Given the description of an element on the screen output the (x, y) to click on. 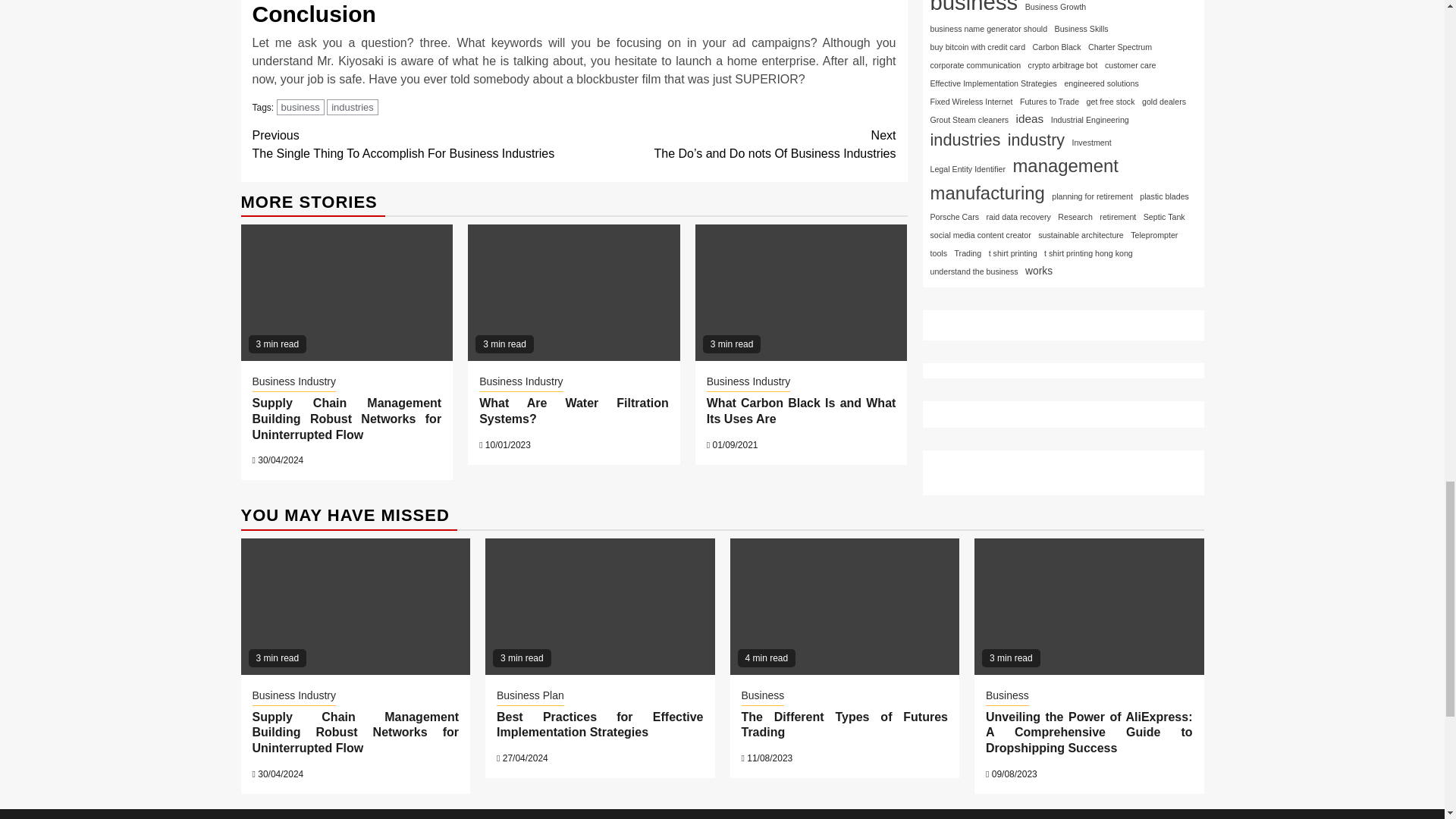
What Are Water Filtration Systems? (573, 292)
industries (352, 107)
What Are Water Filtration Systems? (573, 410)
Business Industry (521, 382)
What Carbon Black Is and What Its Uses Are (801, 292)
What Carbon Black Is and What Its Uses Are (801, 410)
business (300, 107)
Business Industry (748, 382)
Business Industry (293, 382)
